Given the description of an element on the screen output the (x, y) to click on. 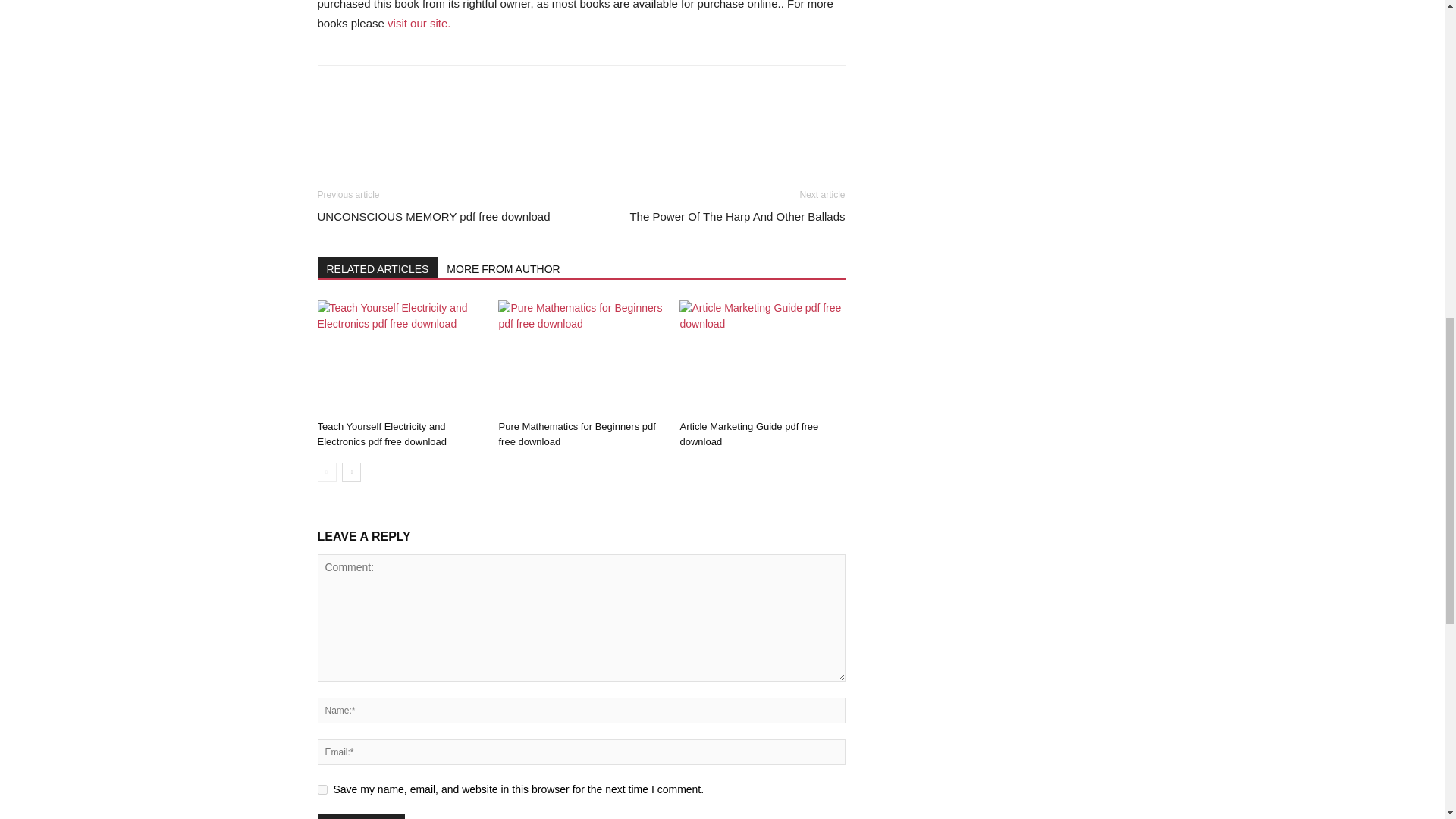
yes (321, 789)
Post Comment (360, 816)
